Given the description of an element on the screen output the (x, y) to click on. 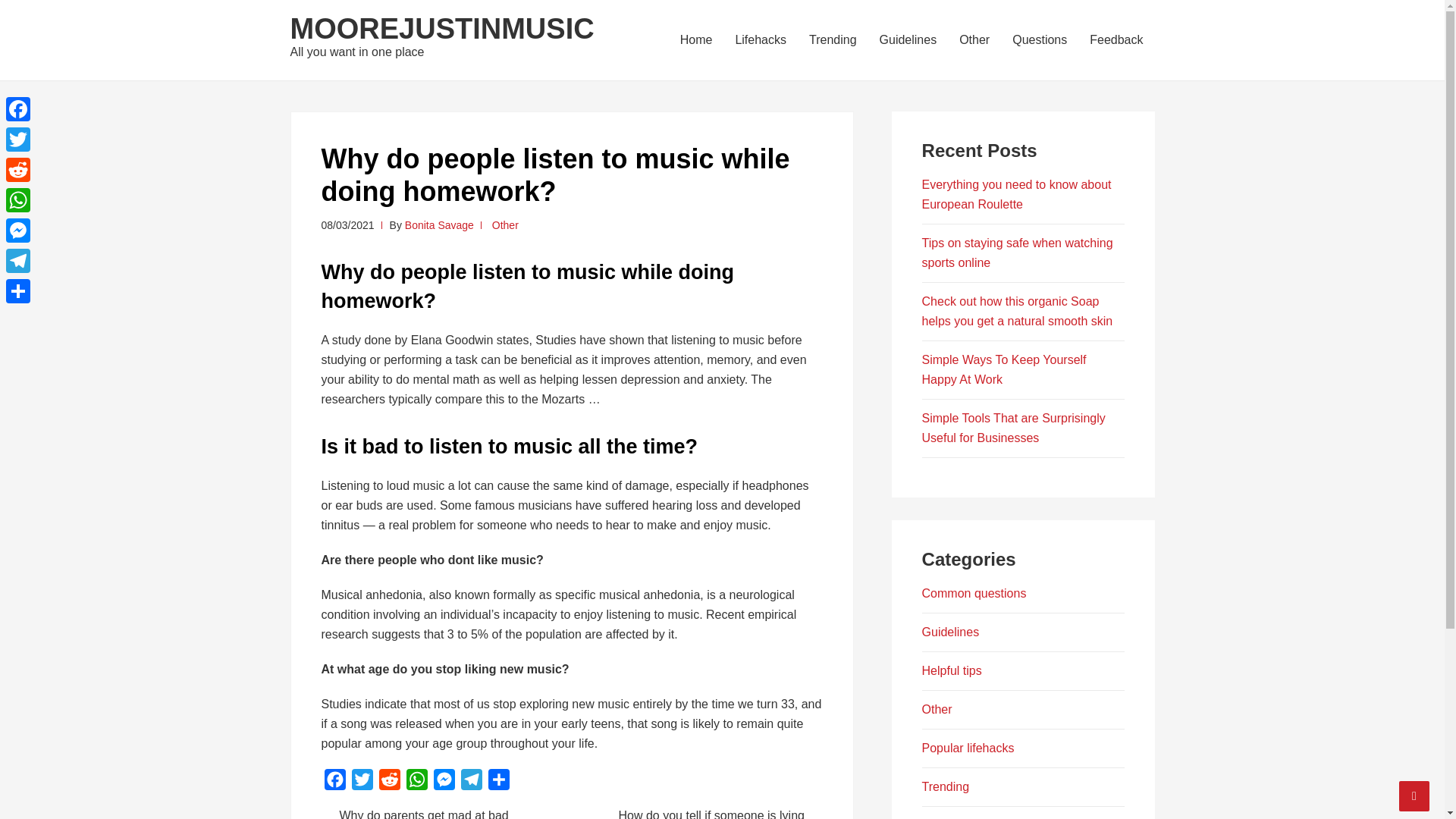
Messenger (17, 230)
Bonita Savage (439, 224)
Popular lifehacks (967, 748)
Facebook (17, 109)
Lifehacks (760, 39)
Twitter (362, 782)
Helpful tips (951, 670)
Telegram (471, 782)
Twitter (17, 139)
